Given the description of an element on the screen output the (x, y) to click on. 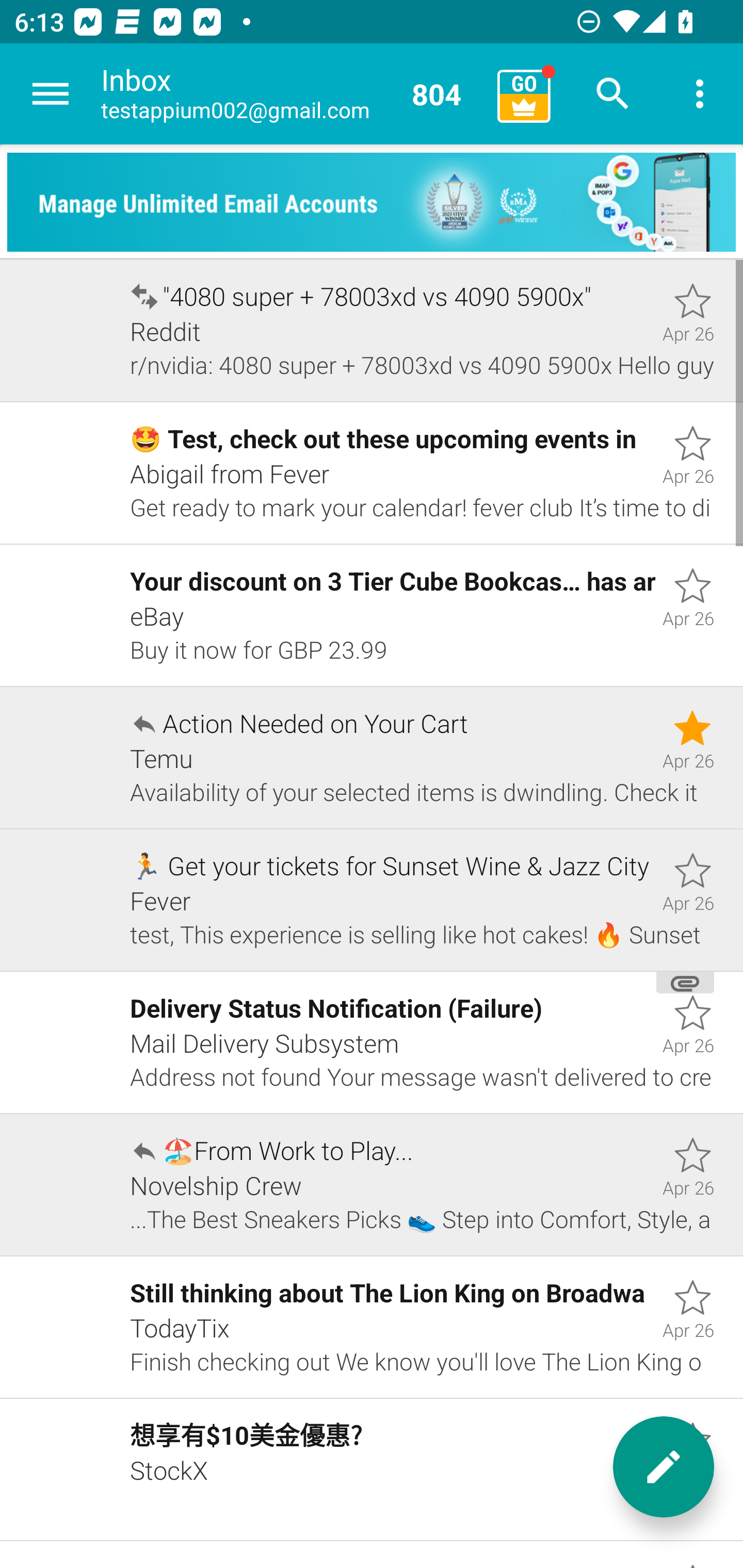
Navigate up (50, 93)
Inbox testappium002@gmail.com 804 (291, 93)
Search (612, 93)
More options (699, 93)
Unread, 想享有$10美金優惠?, StockX, Apr 26 (371, 1469)
New message (663, 1466)
